Given the description of an element on the screen output the (x, y) to click on. 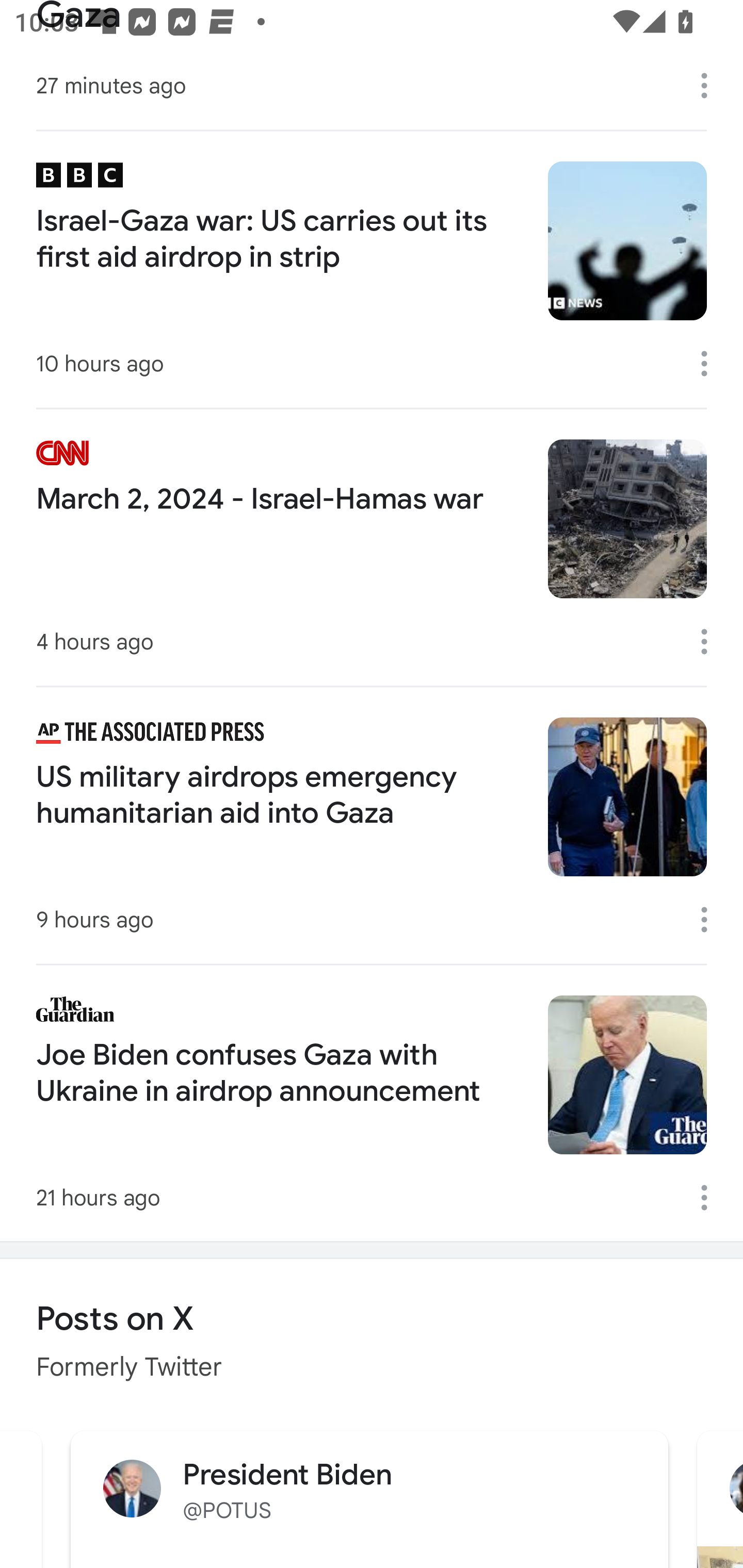
More options (711, 85)
More options (711, 363)
More options (711, 641)
More options (711, 919)
More options (711, 1197)
